Given the description of an element on the screen output the (x, y) to click on. 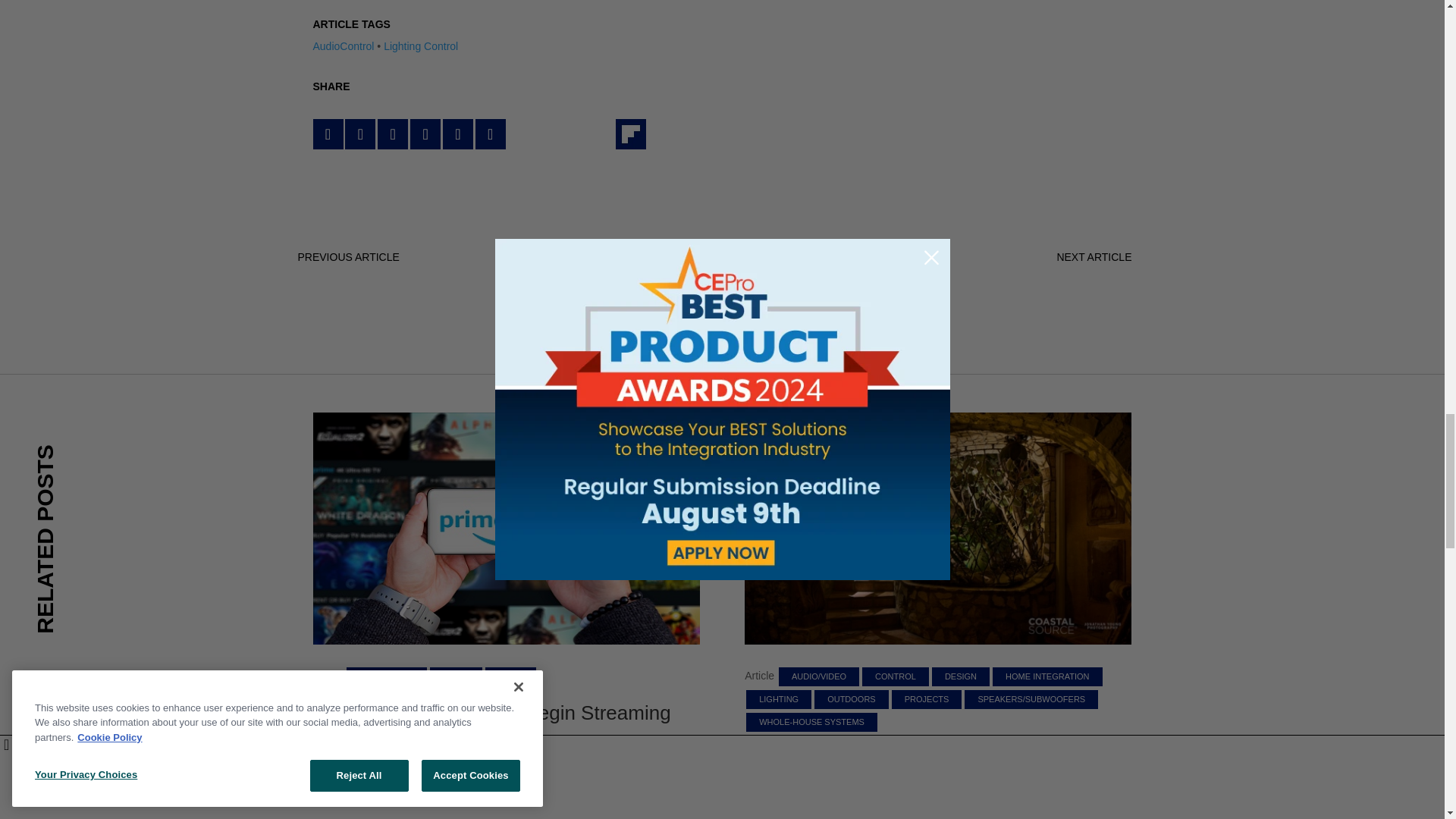
3rd party ad content (721, 213)
